Given the description of an element on the screen output the (x, y) to click on. 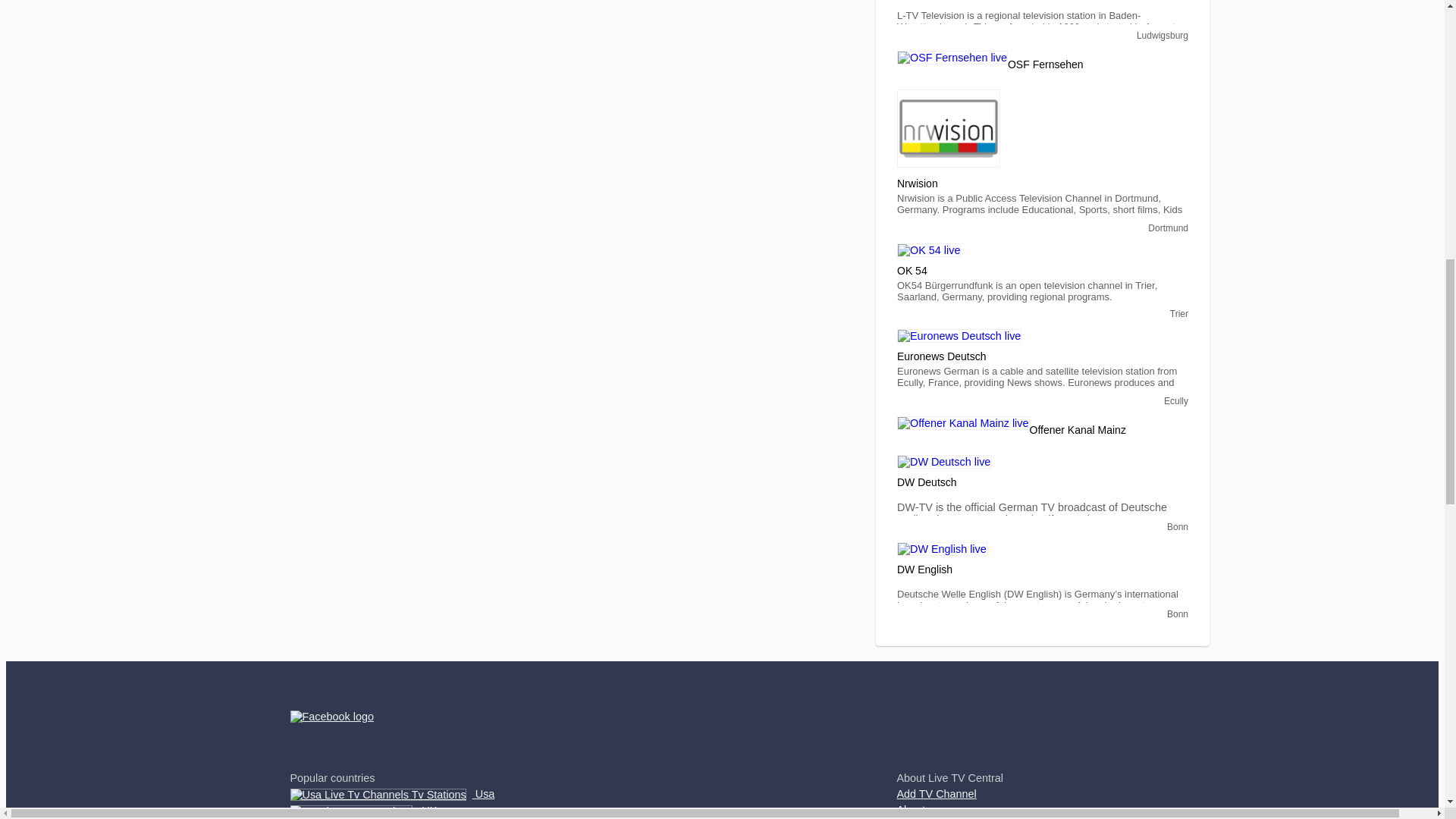
Nrwision (948, 128)
Offener Kanal Mainz (962, 422)
Offener Kanal Mainz (1077, 430)
OK 54 (928, 249)
DW English (941, 548)
OSF Fernsehen (951, 57)
DW Deutsch (943, 461)
Euronews Deutsch (959, 336)
OSF Fernsehen (1045, 65)
